Given the description of an element on the screen output the (x, y) to click on. 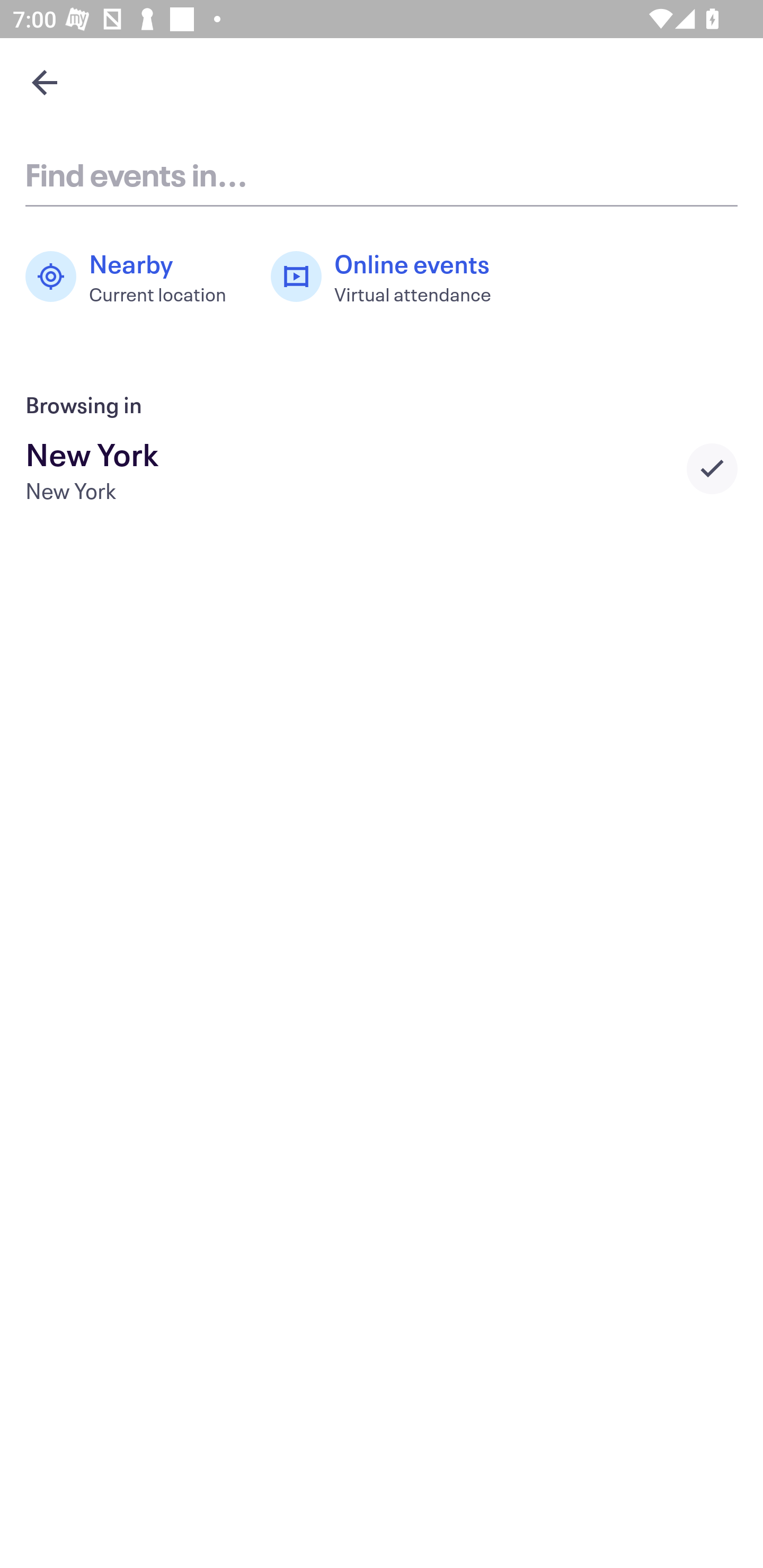
Navigate up (44, 82)
Find events in... (381, 173)
Nearby Current location (135, 276)
Online events Virtual attendance (390, 276)
New York New York Selected city (381, 468)
